Given the description of an element on the screen output the (x, y) to click on. 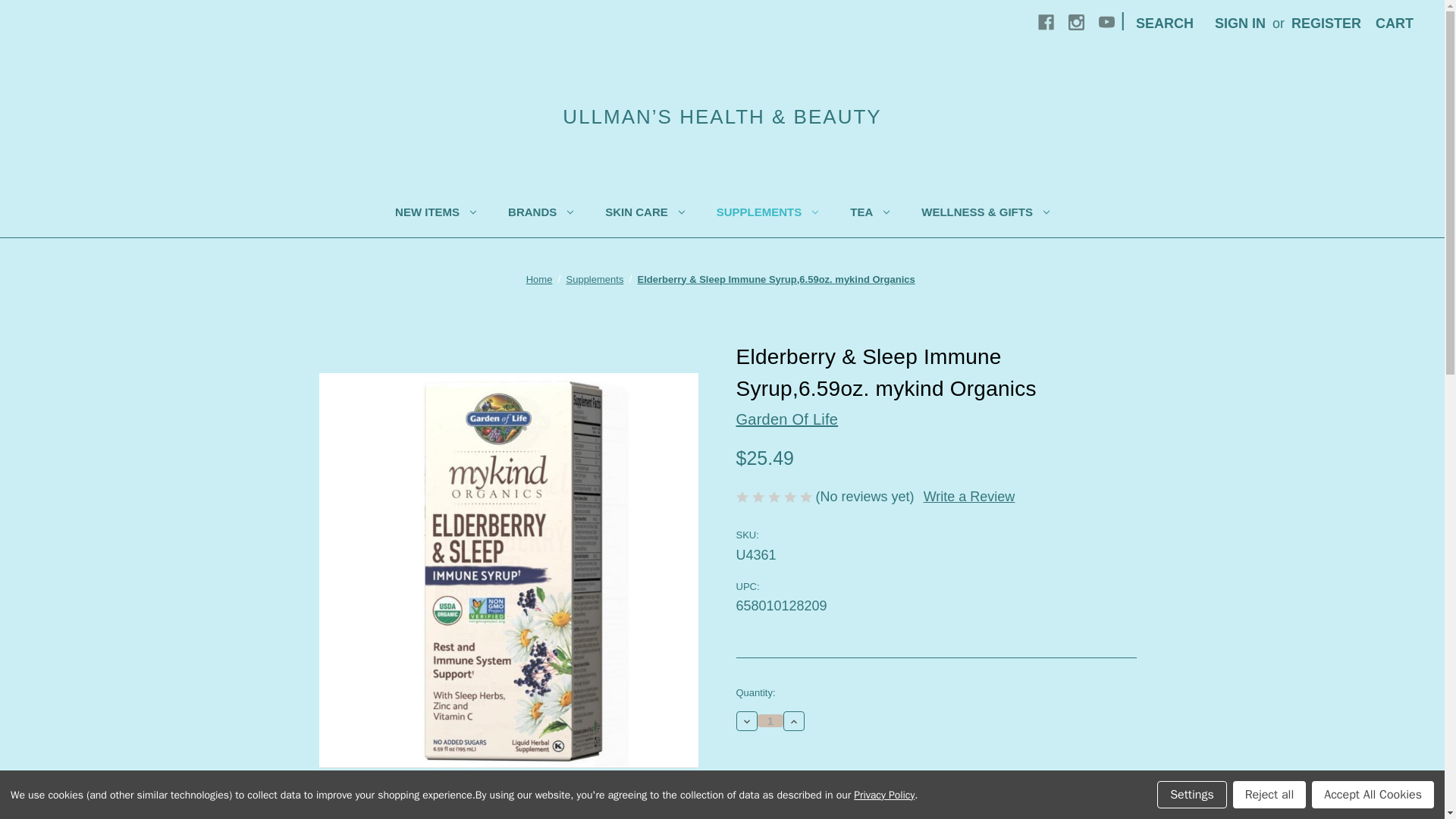
CART (1394, 23)
REGISTER (1326, 23)
BRANDS (540, 215)
1 (770, 720)
Facebook (1046, 21)
NEW ITEMS (435, 215)
SIGN IN (1240, 23)
Youtube (1107, 21)
Add to Cart (833, 791)
SEARCH (1164, 23)
Instagram (1076, 21)
